Given the description of an element on the screen output the (x, y) to click on. 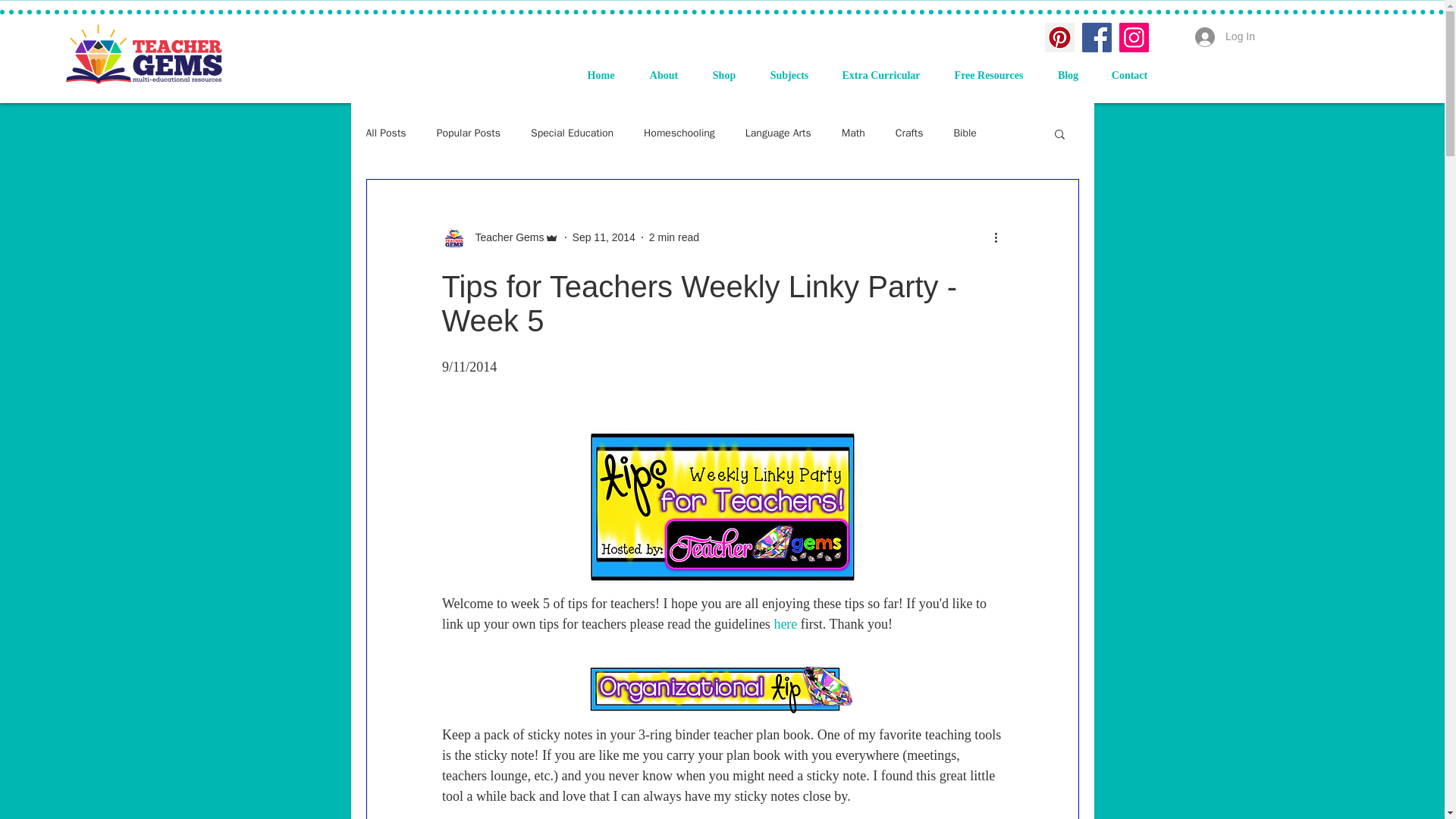
Math (852, 133)
2 min read (673, 236)
Special Education (571, 133)
Sep 11, 2014 (603, 236)
Popular Posts (468, 133)
Bible (964, 133)
Log In (1225, 36)
Teacher Gems (504, 236)
Home (600, 75)
Homeschooling (678, 133)
Crafts (909, 133)
Language Arts (777, 133)
Contact (1128, 75)
Shop (723, 75)
Blog (1067, 75)
